Given the description of an element on the screen output the (x, y) to click on. 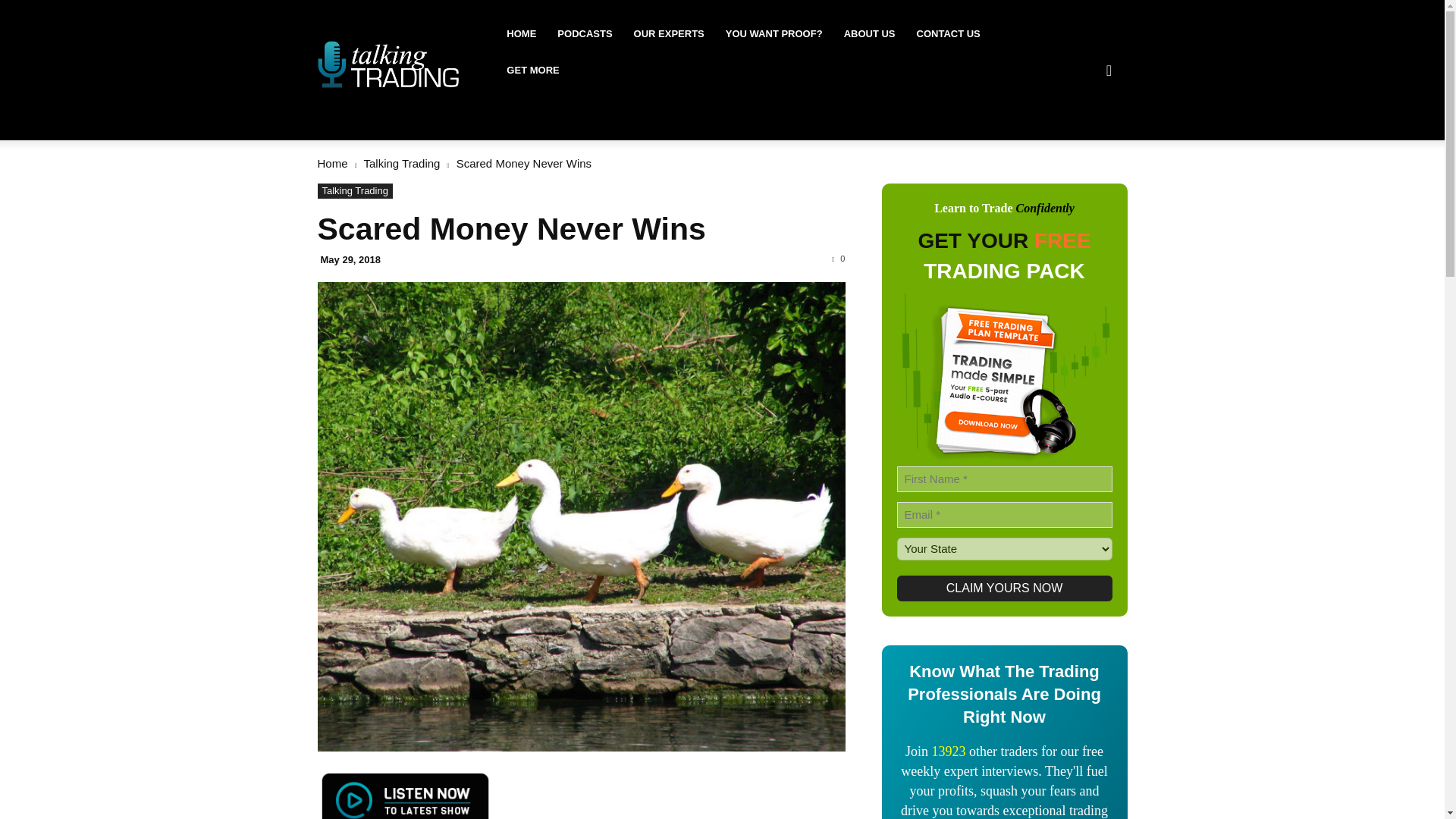
View all posts in Talking Trading (402, 163)
CLAIM YOURS NOW (1004, 588)
Play (404, 795)
Scared Money Never Wins (510, 228)
Play (404, 795)
